Given the description of an element on the screen output the (x, y) to click on. 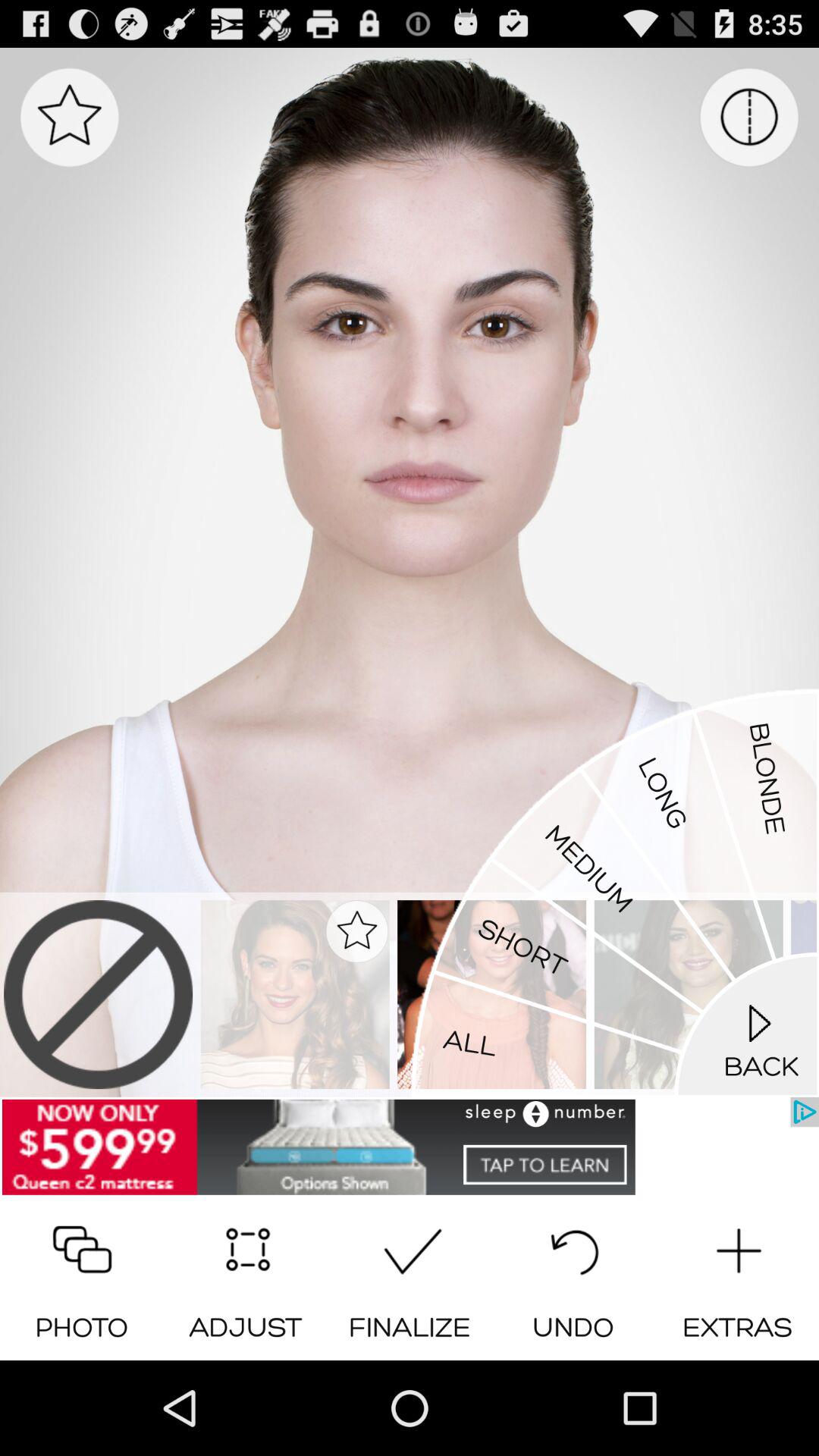
tap item on the right (614, 892)
